Given the description of an element on the screen output the (x, y) to click on. 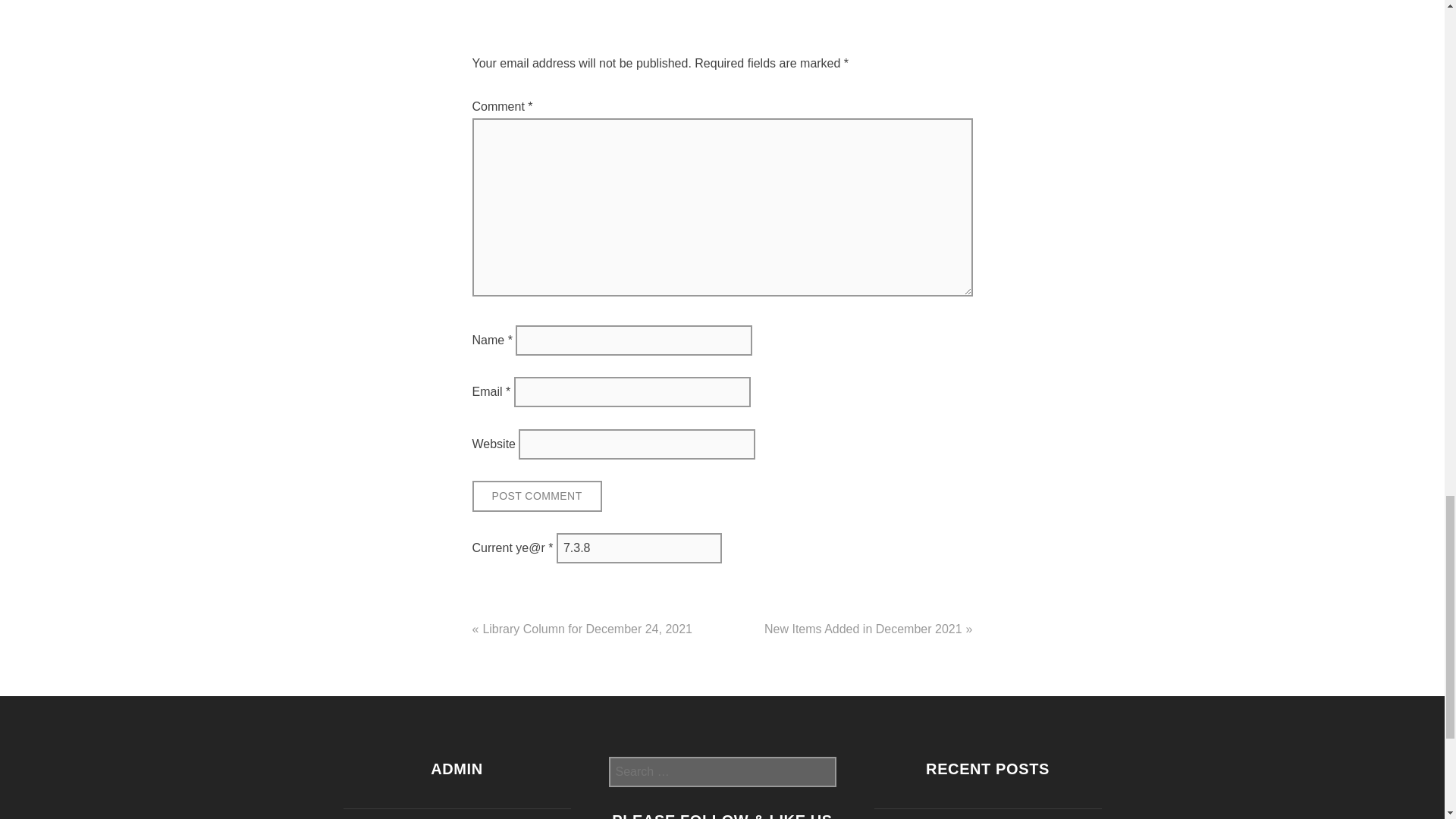
Post Comment (536, 495)
Post Comment (536, 495)
7.3.8 (639, 548)
New Items Added in December 2021 (863, 628)
Library Column for December 24, 2021 (587, 628)
